Given the description of an element on the screen output the (x, y) to click on. 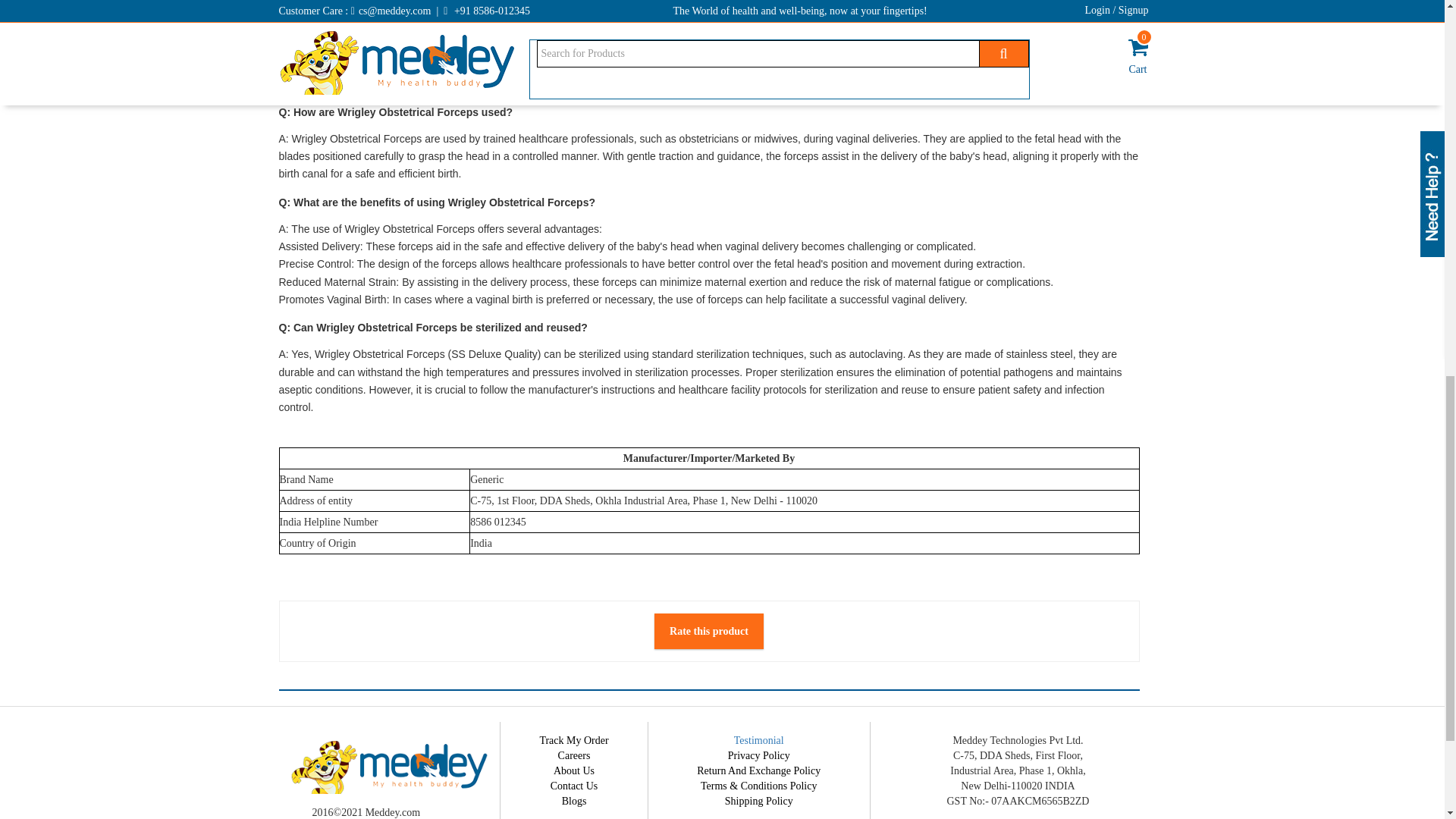
Careers (574, 755)
Blogs (574, 800)
Testimonial (758, 740)
Contact Us (574, 785)
Rate this product (707, 631)
Track My Order (573, 740)
About Us (573, 770)
